Given the description of an element on the screen output the (x, y) to click on. 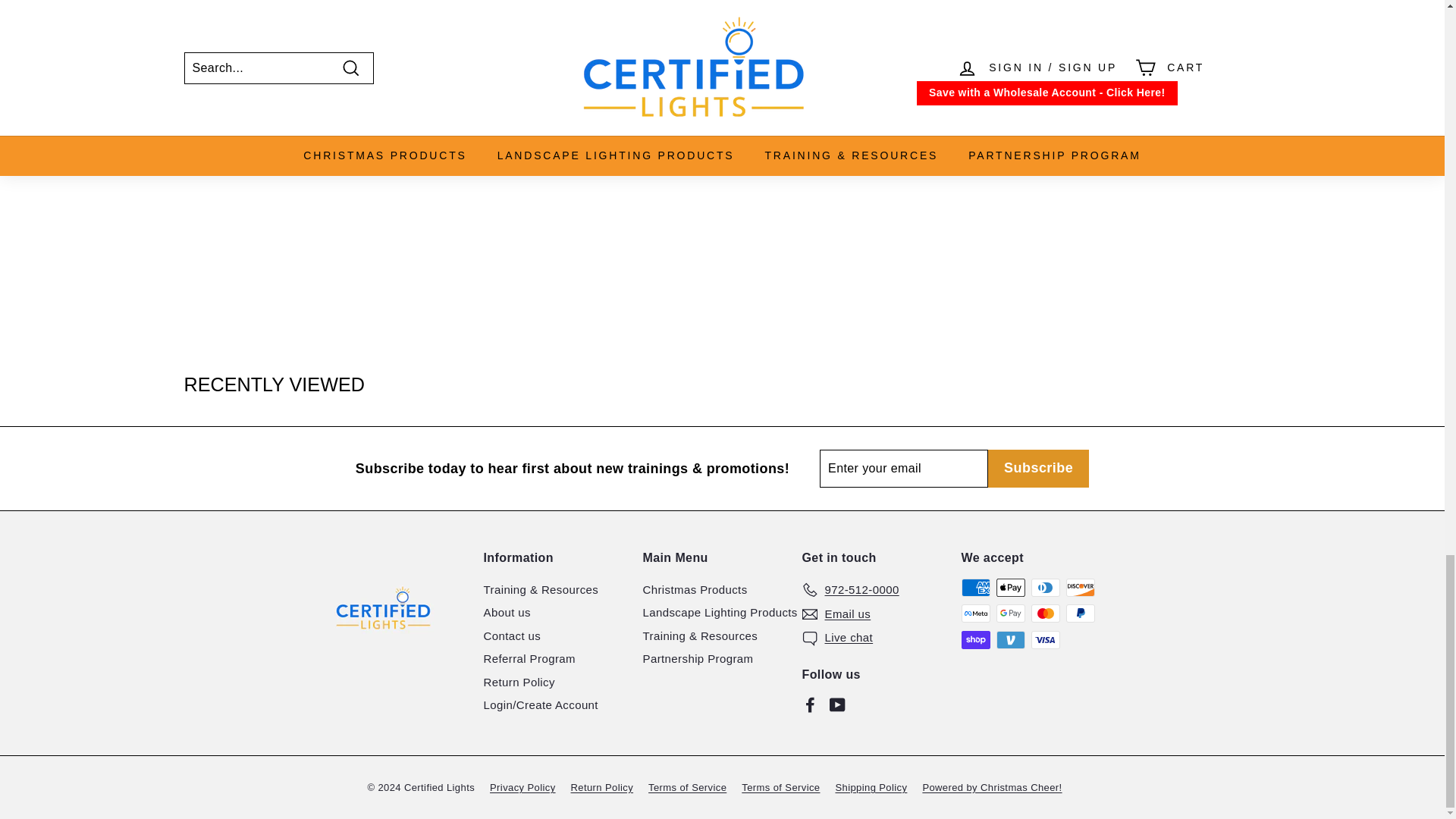
Certified Lights on YouTube (837, 703)
Certified Lights (394, 8)
Certified Lights on Facebook (810, 703)
Apple Pay (1010, 587)
American Express (975, 587)
